Given the description of an element on the screen output the (x, y) to click on. 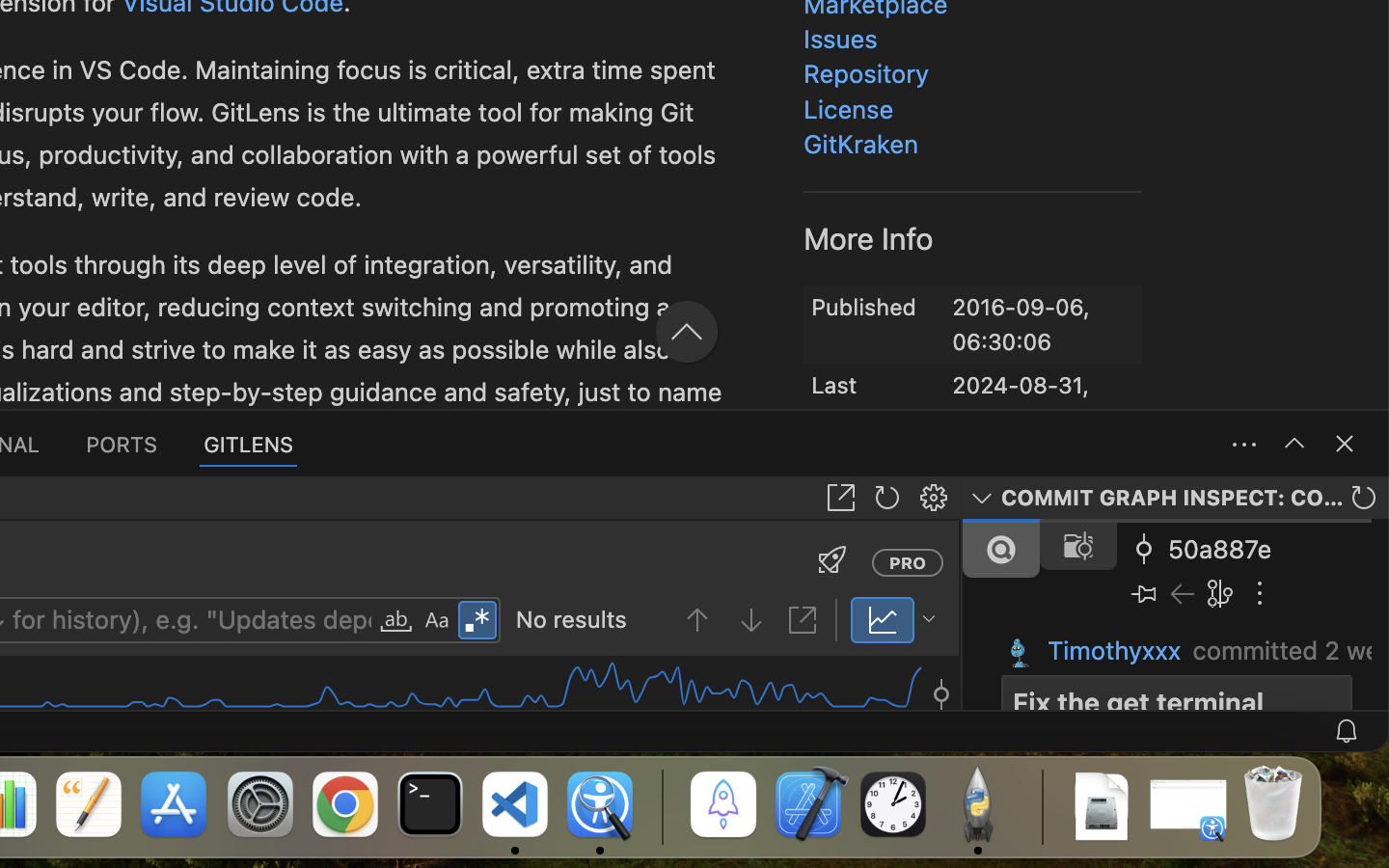
No results    Element type: AXGroup (670, 620)
POPULAR Element type: AXStaticText (750, 273)
More Info Element type: AXStaticText (868, 237)
 Element type: AXCheckBox (396, 620)
 Element type: AXGroup (941, 682)
